Given the description of an element on the screen output the (x, y) to click on. 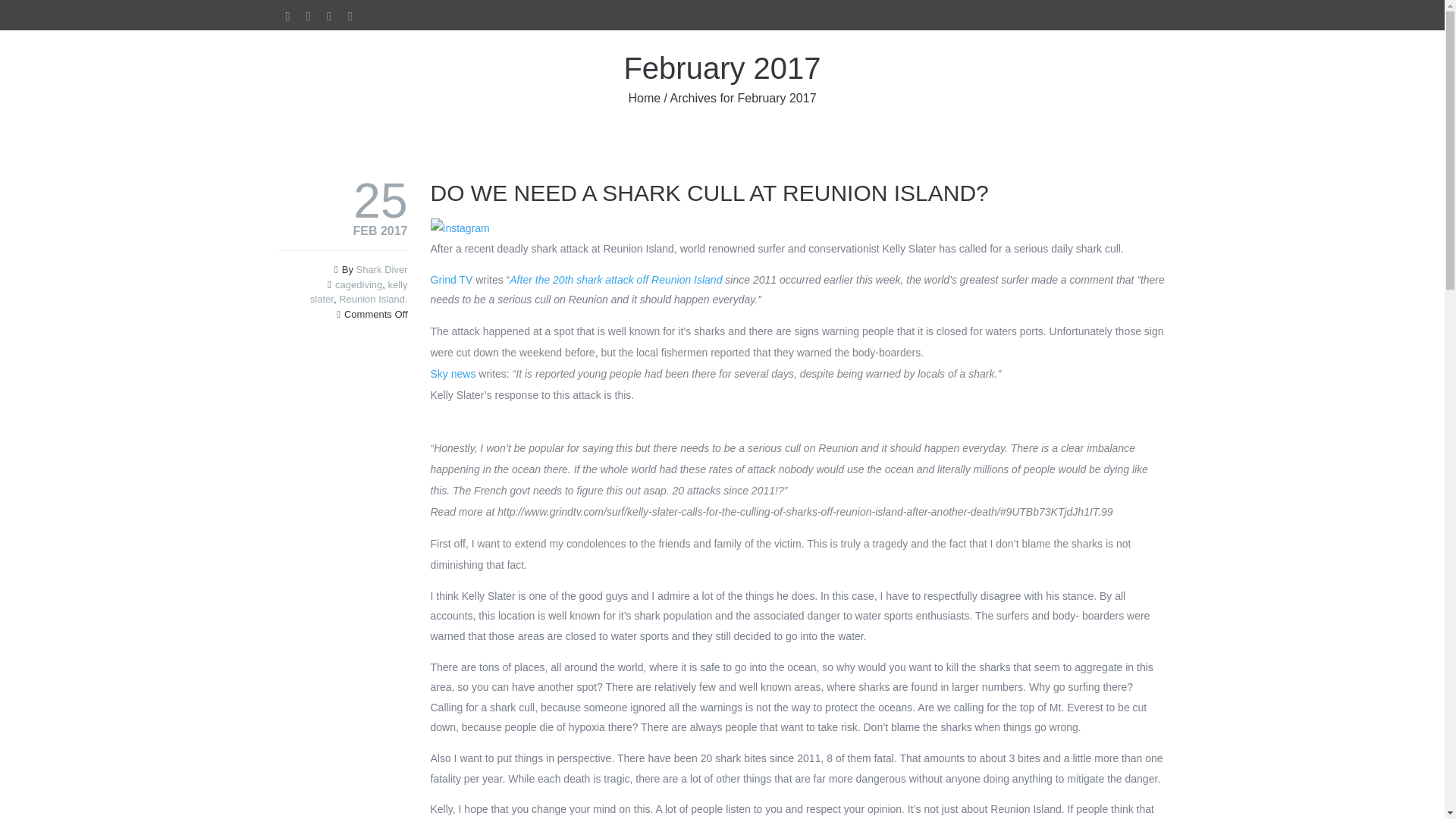
After the 20th shark attack off Reunion Island (615, 279)
Reunion Island. (373, 298)
Grind TV (451, 279)
DO WE NEED A SHARK CULL AT REUNION ISLAND? (709, 192)
Sky news (454, 373)
Shark Diver (381, 269)
Permalink to Do we need a shark cull at Reunion Island? (709, 192)
View all posts by Shark Diver (381, 269)
Home (644, 97)
kelly slater (358, 292)
cagediving (357, 284)
